Given the description of an element on the screen output the (x, y) to click on. 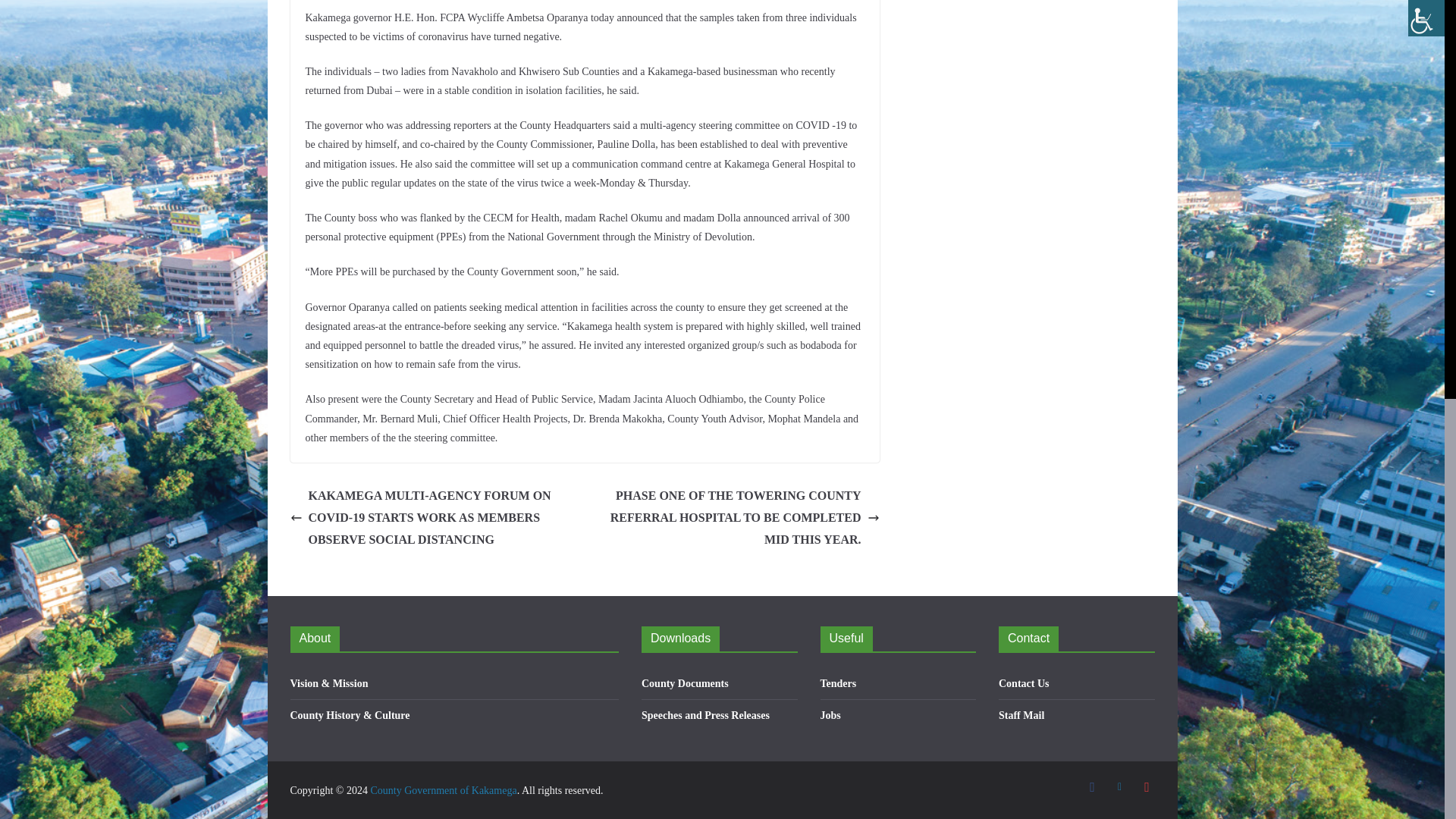
County Government of Kakamega (442, 790)
